Given the description of an element on the screen output the (x, y) to click on. 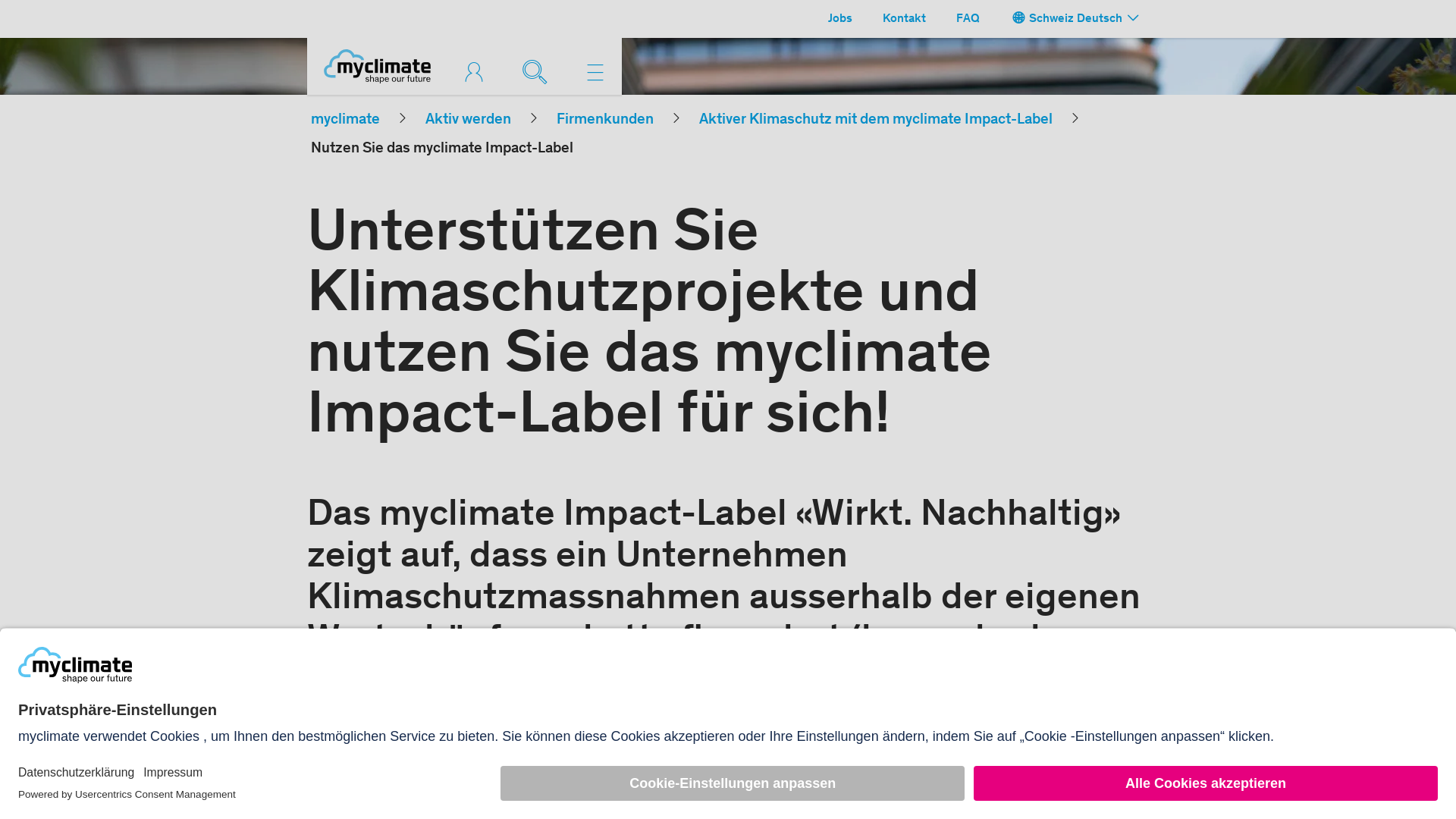
Jobs Element type: text (839, 18)
Aktiv werden Element type: text (468, 120)
Aktiver Klimaschutz mit dem myclimate Impact-Label Element type: text (875, 120)
moin-ai-button Element type: hover (1404, 767)
Firmenkunden Element type: text (604, 120)
FAQ Element type: text (967, 18)
Suche Element type: hover (538, 69)
moin-ai-teaser Element type: hover (1293, 740)
Kompensieren Element type: text (477, 71)
myclimate Element type: text (344, 120)
Kontakt Element type: text (904, 18)
